Given the description of an element on the screen output the (x, y) to click on. 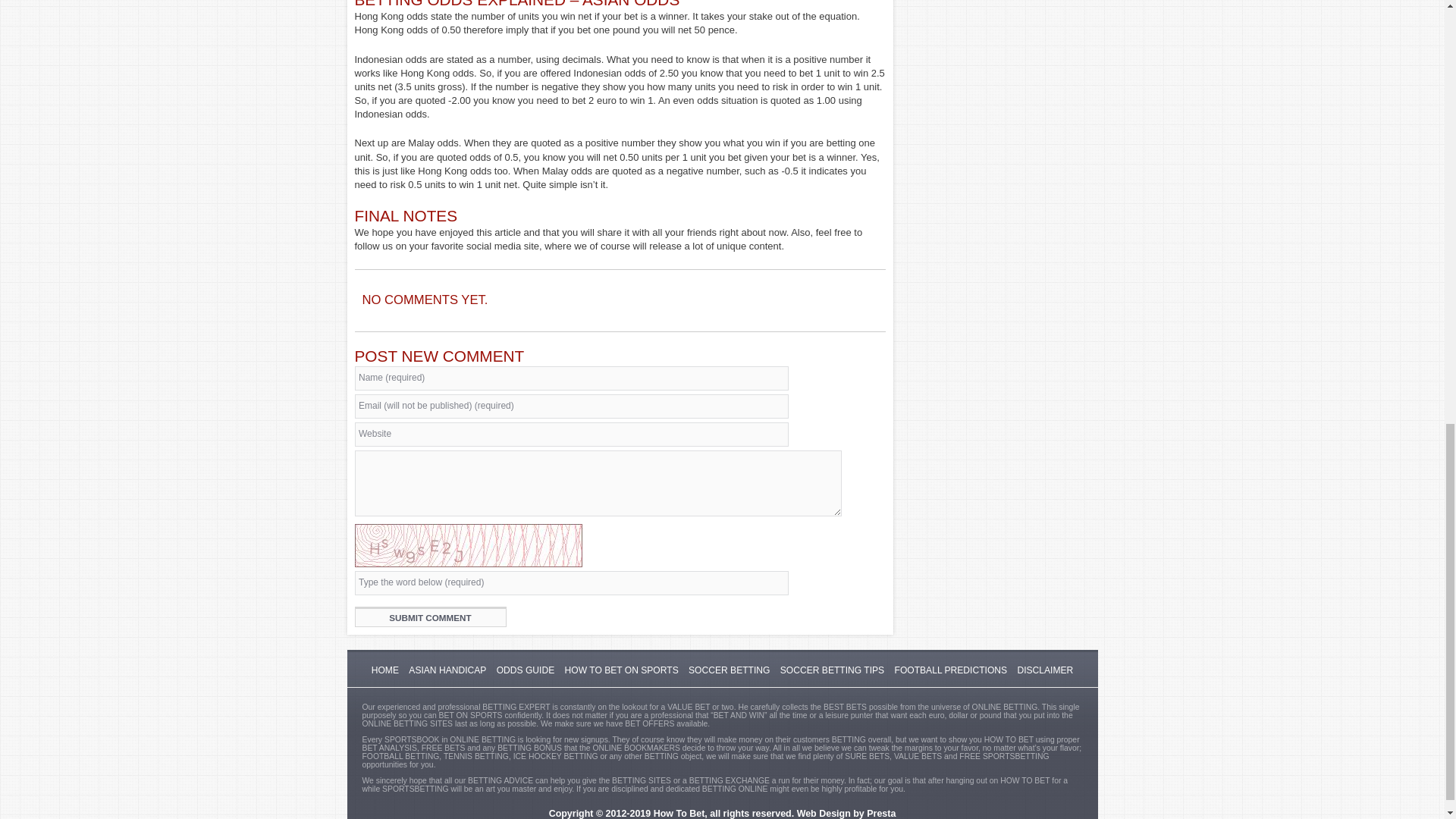
Website (572, 434)
Submit comment (430, 616)
Submit comment (430, 616)
